Given the description of an element on the screen output the (x, y) to click on. 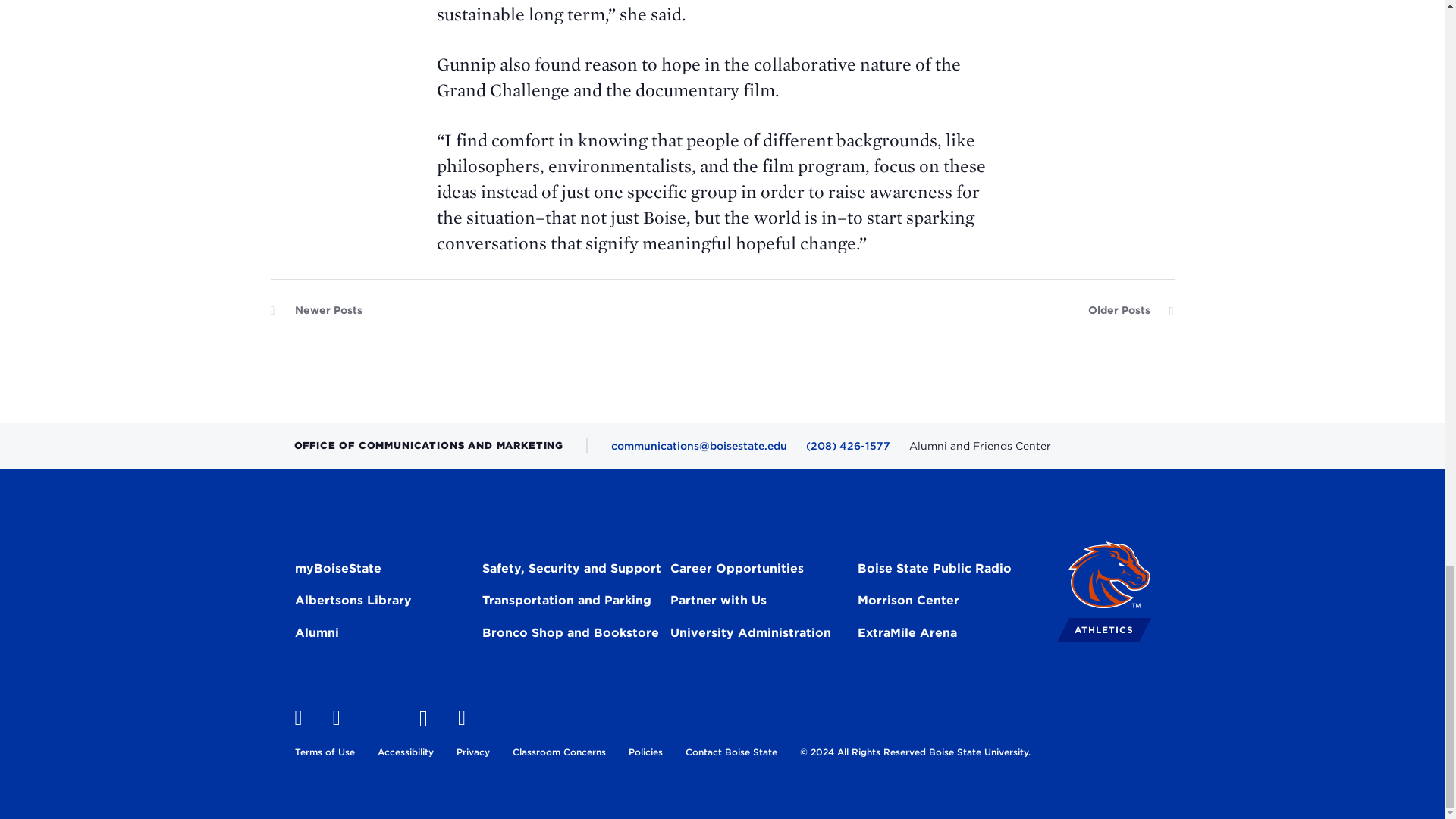
Older Posts (1130, 313)
Partner with Us (718, 602)
Albertsons Library (352, 602)
Alumni (315, 635)
Boise State Public Radio (934, 570)
myBoiseState (337, 570)
Career Opportunities (736, 570)
Transportation and Parking (565, 602)
Morrison Center (908, 602)
Safety, Security and Support (571, 570)
